Given the description of an element on the screen output the (x, y) to click on. 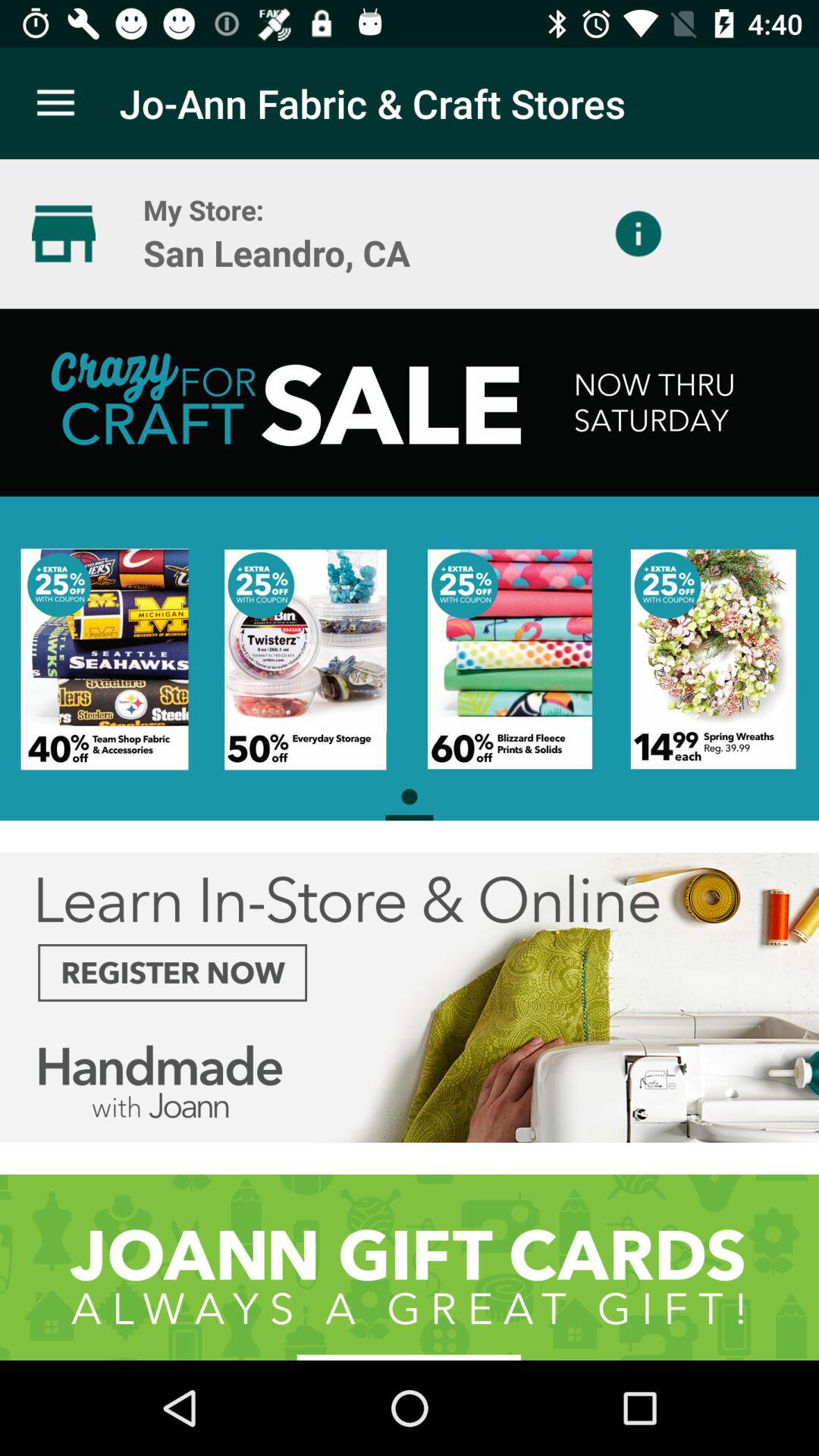
select the image on the left to the text my store on the web page (63, 233)
